Given the description of an element on the screen output the (x, y) to click on. 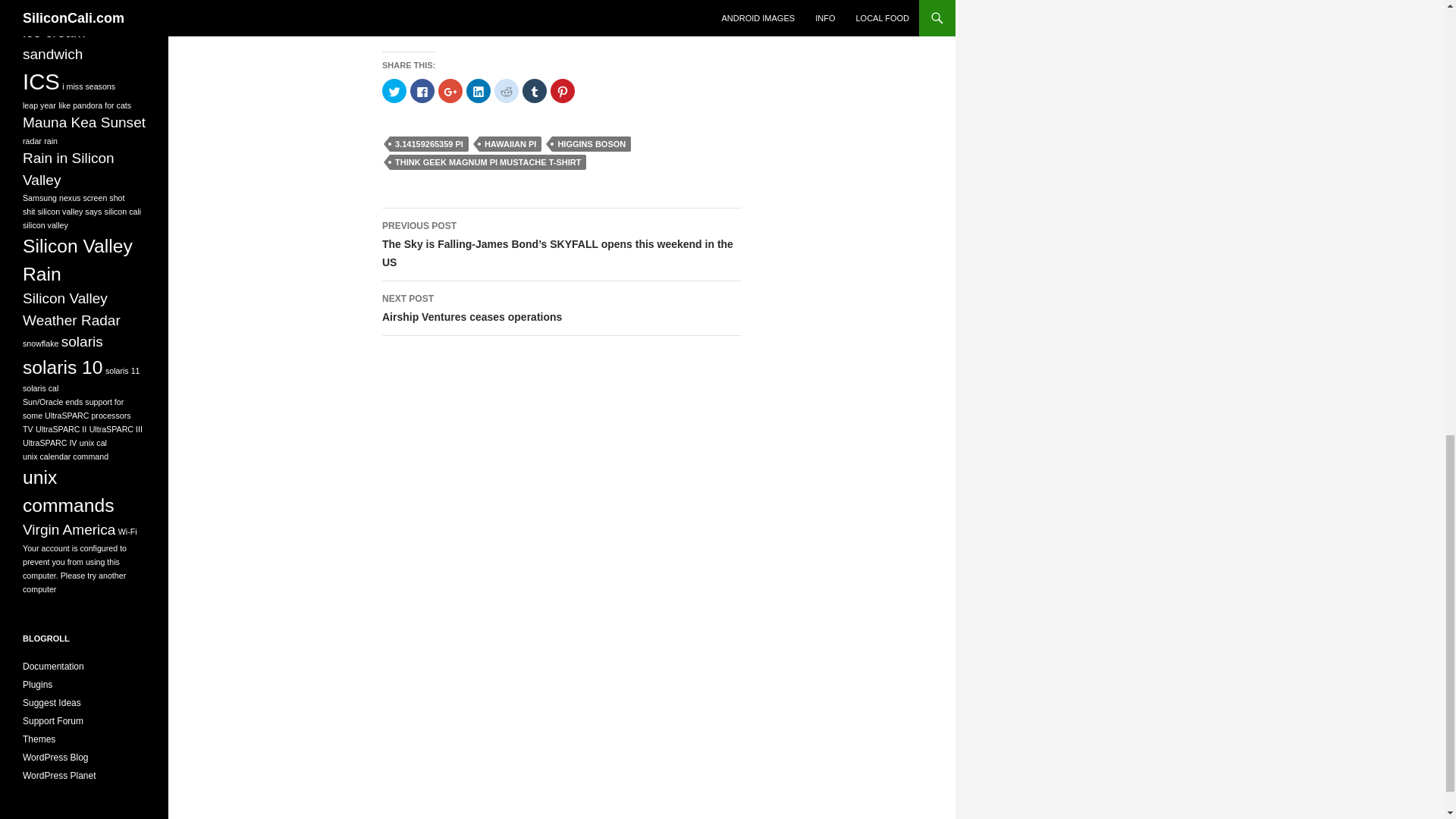
HIGGINS BOSON (590, 143)
Click to share on Facebook (421, 90)
Click to share on Reddit (506, 90)
Click to share on LinkedIn (477, 90)
Click to share on Tumblr (561, 308)
3.14159265359 PI (534, 90)
Click to share on Twitter (429, 143)
Click to share on Pinterest (393, 90)
HAWAIIAN PI (562, 90)
THINK GEEK MAGNUM PI MUSTACHE T-SHIRT (510, 143)
